Given the description of an element on the screen output the (x, y) to click on. 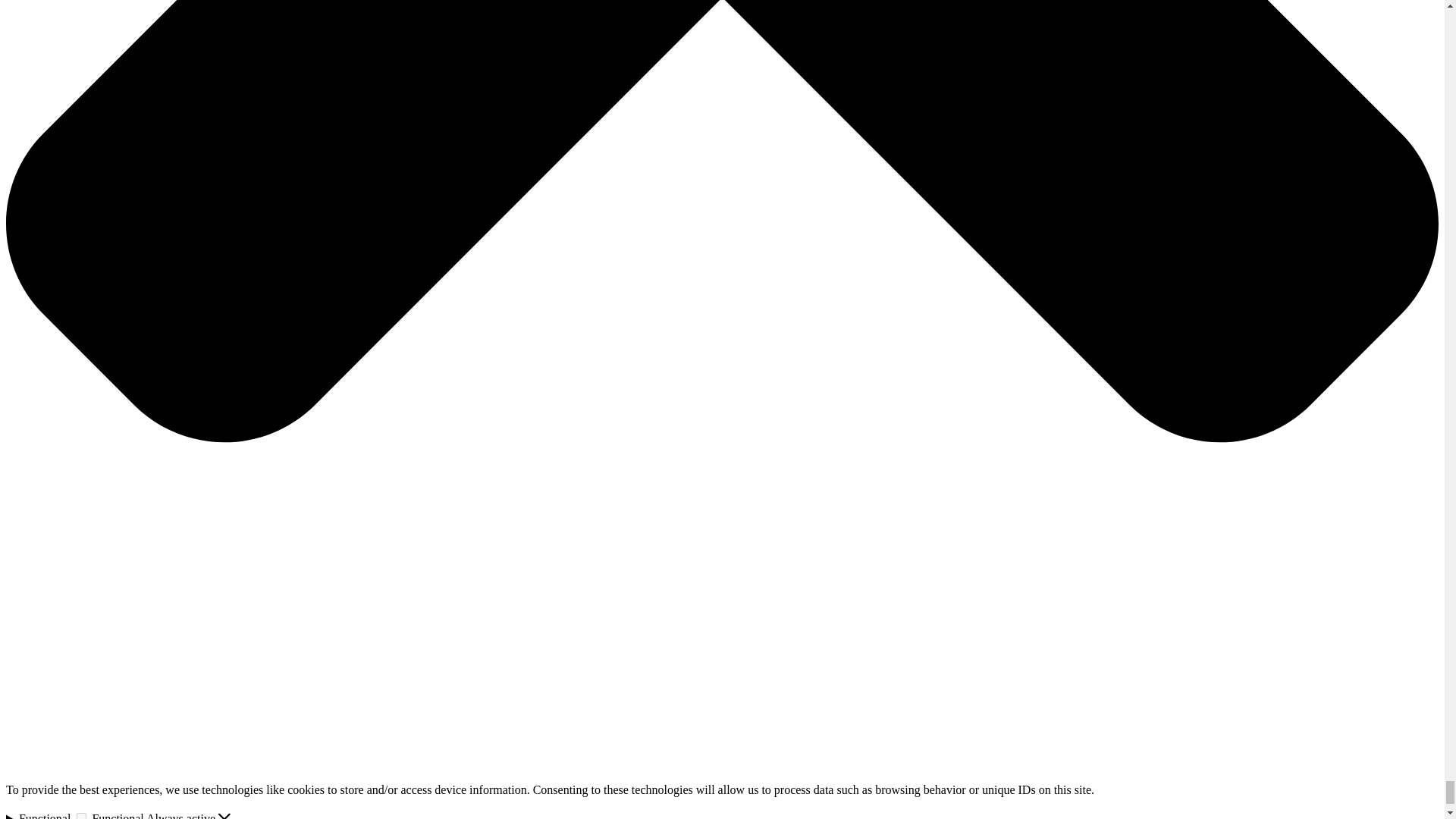
1 (81, 816)
